Given the description of an element on the screen output the (x, y) to click on. 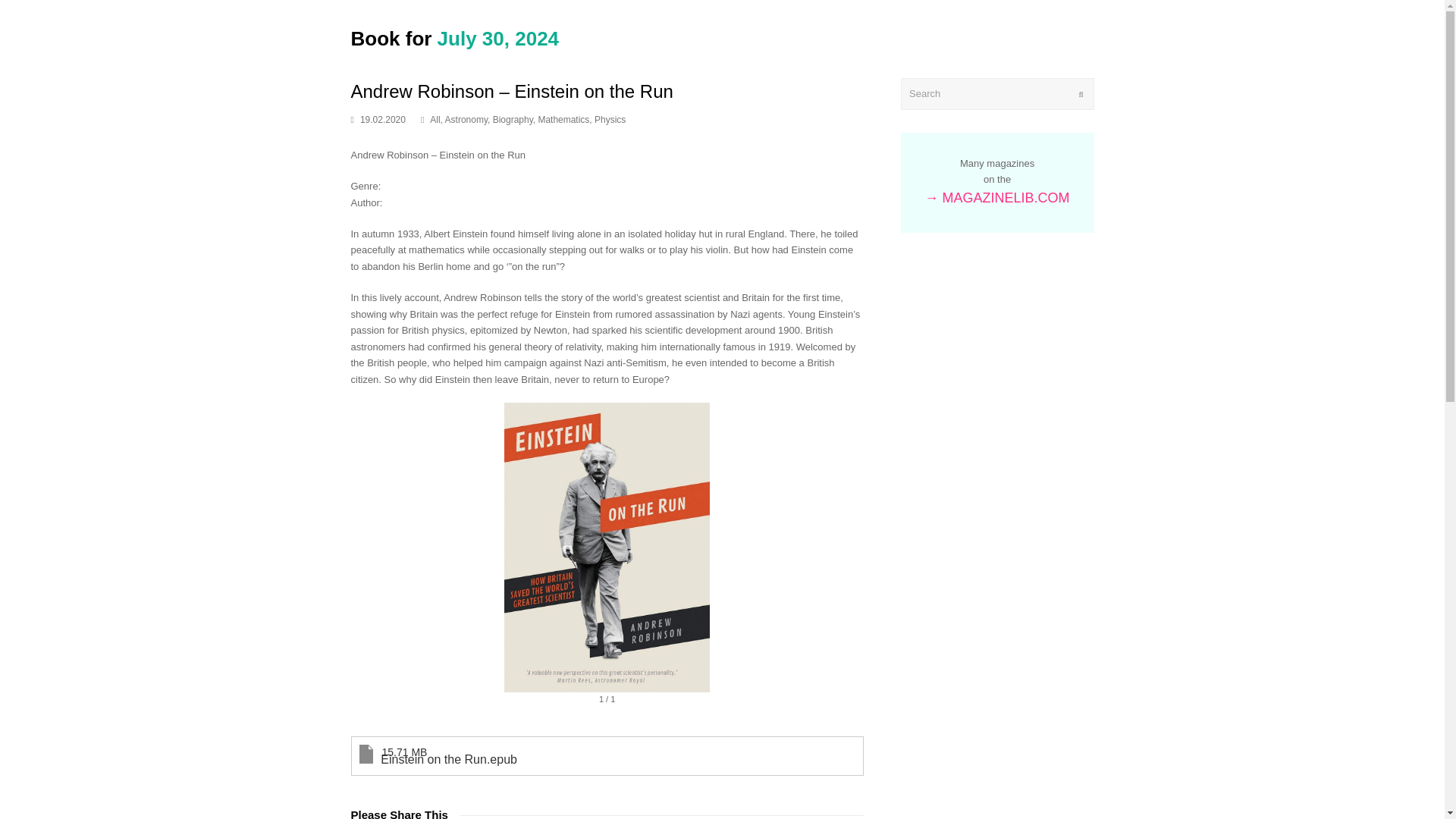
Book for July 30, 2024 (454, 38)
Biography (512, 119)
Einstein on the Run.epub (576, 755)
New books every day - PDF, FB2 download (454, 38)
Astronomy (466, 119)
All (434, 119)
Physics (610, 119)
Mathematics (563, 119)
